Given the description of an element on the screen output the (x, y) to click on. 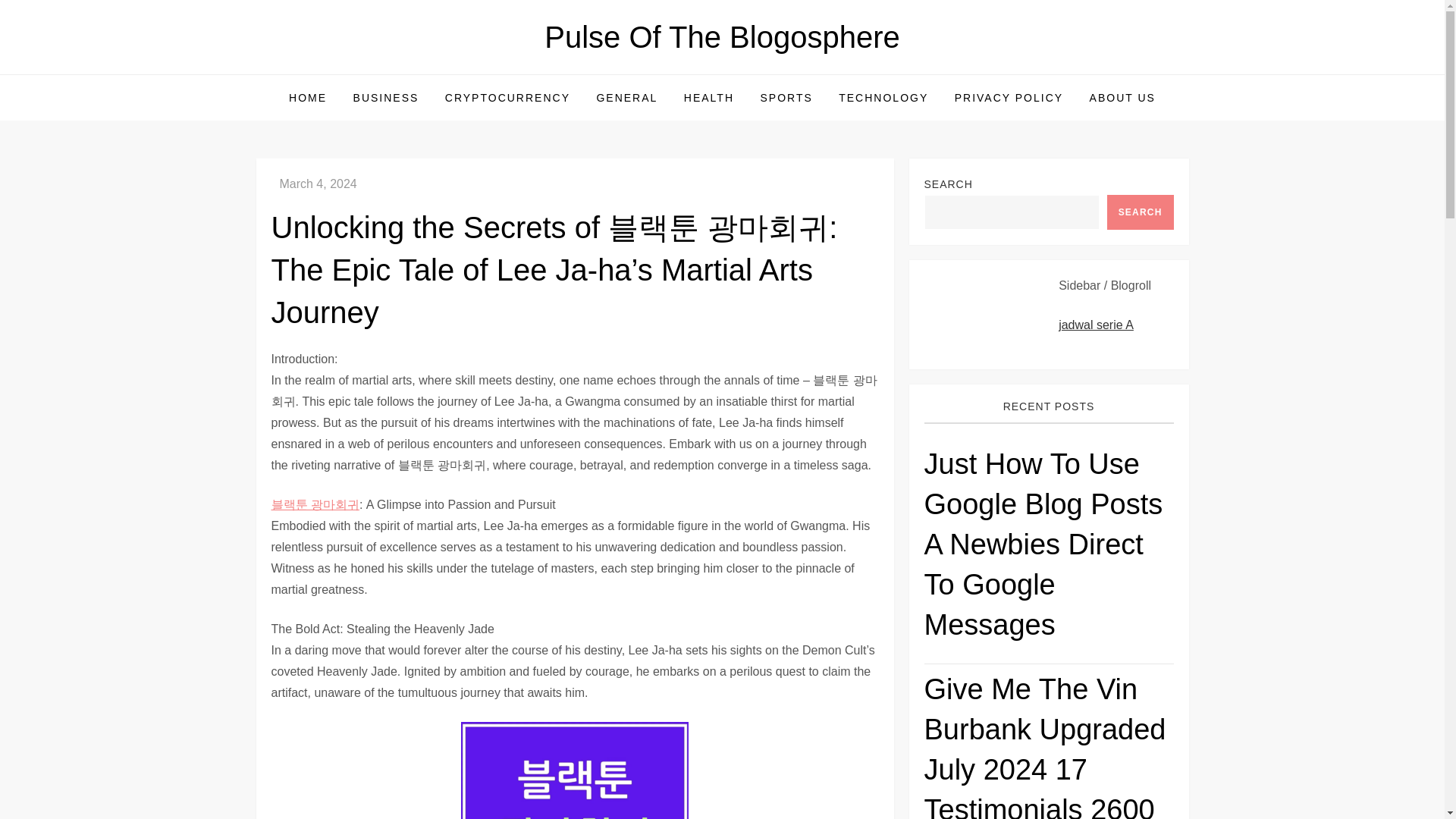
GENERAL (626, 97)
March 4, 2024 (317, 183)
TECHNOLOGY (883, 97)
CRYPTOCURRENCY (506, 97)
PRIVACY POLICY (1008, 97)
jadwal serie A (1096, 324)
ABOUT US (1122, 97)
HEALTH (708, 97)
SPORTS (786, 97)
BUSINESS (386, 97)
SEARCH (1139, 212)
Pulse Of The Blogosphere (721, 37)
HOME (307, 97)
